Given the description of an element on the screen output the (x, y) to click on. 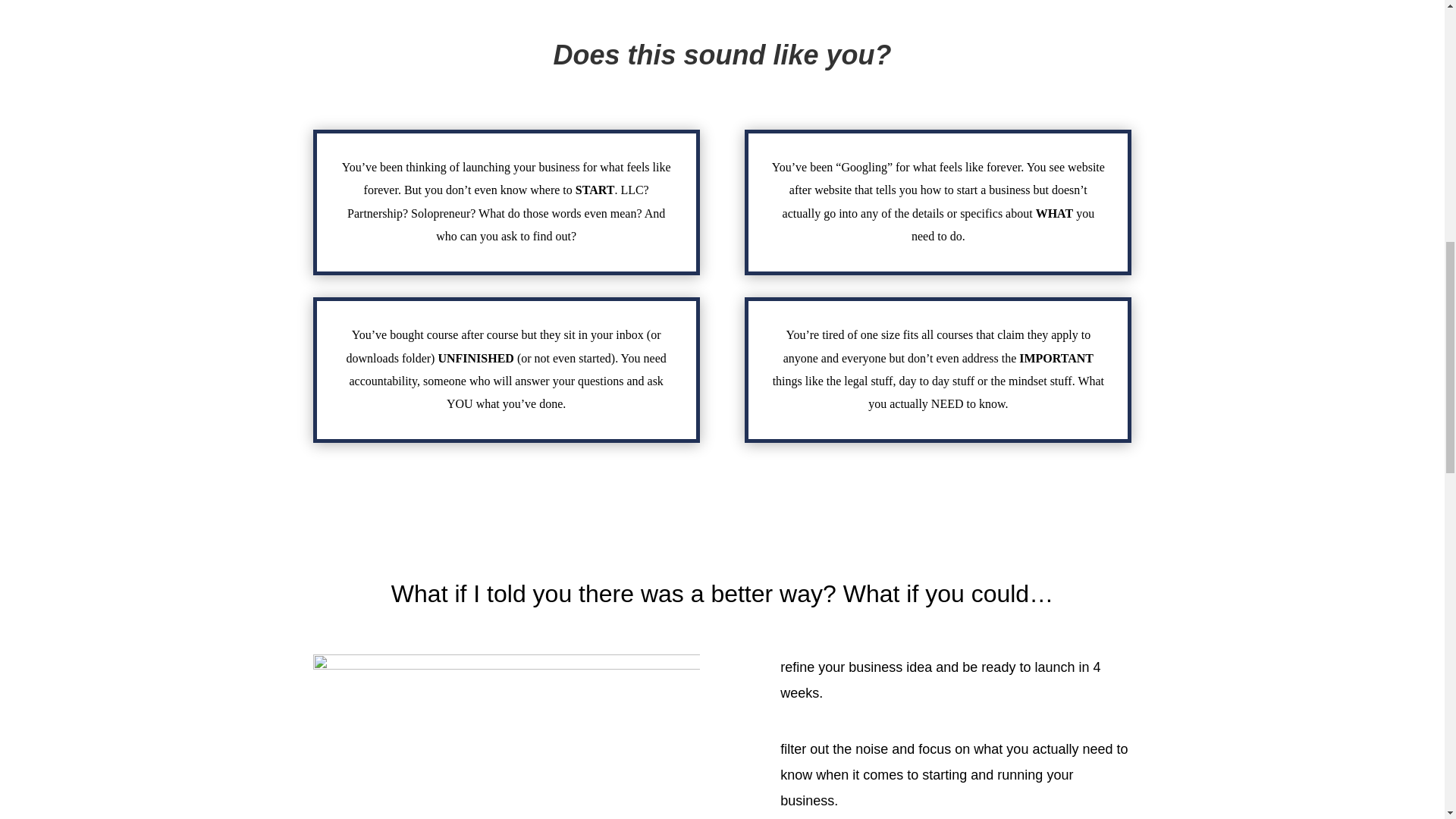
Ivory Mix Stock (505, 736)
